Given the description of an element on the screen output the (x, y) to click on. 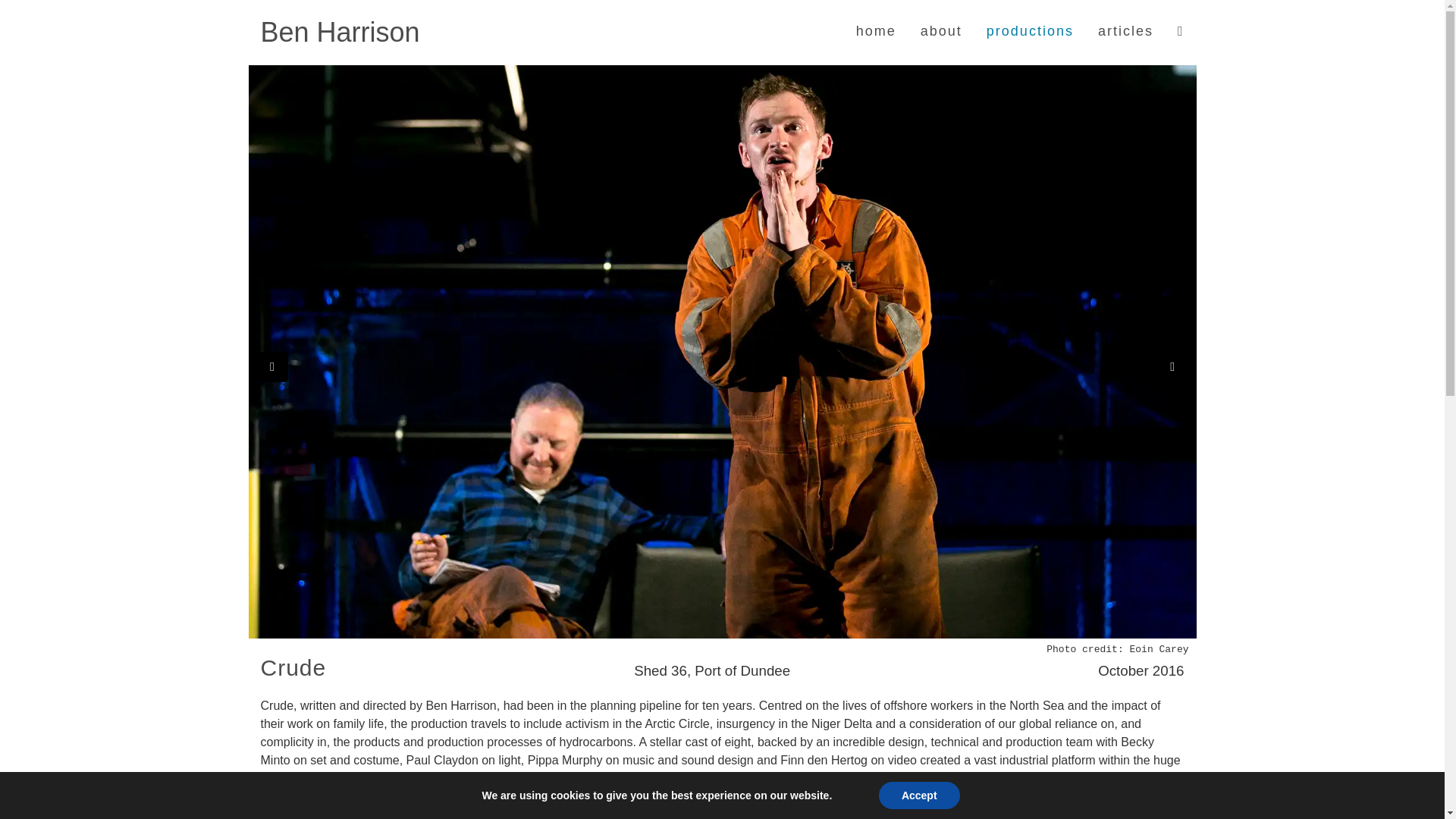
articles (1125, 30)
about (941, 30)
Accept (919, 795)
productions (1030, 32)
Ben Harrison (340, 32)
home (876, 30)
